Given the description of an element on the screen output the (x, y) to click on. 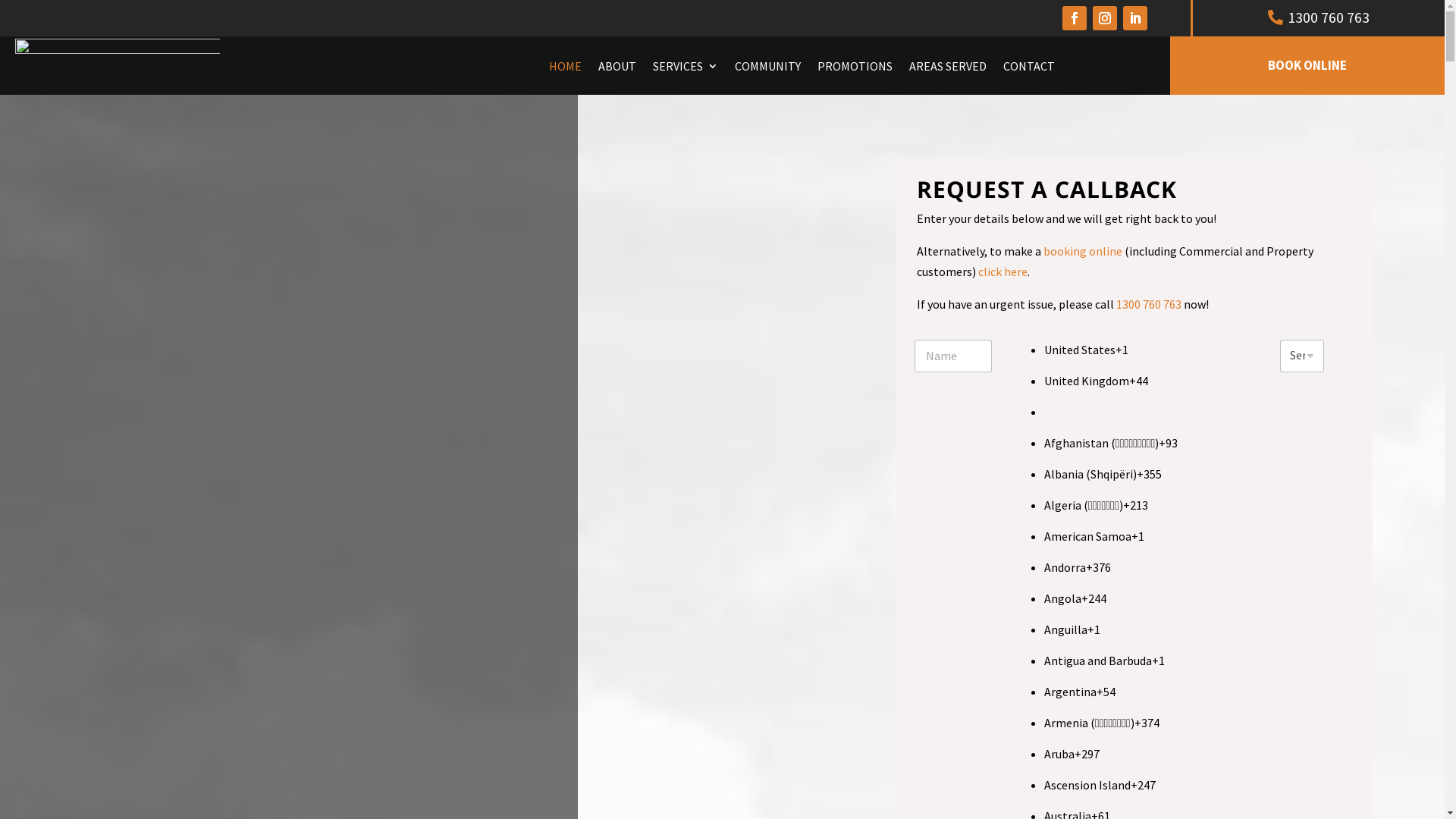
Follow on LinkedIn Element type: hover (1135, 18)
click here Element type: text (1002, 271)
1300 760 763 Element type: text (1148, 303)
booking online Element type: text (1082, 250)
CONTACT Element type: text (1028, 65)
AREAS SERVED Element type: text (947, 65)
PROMOTIONS Element type: text (854, 65)
Follow on Instagram Element type: hover (1104, 18)
HOME Element type: text (565, 65)
ABOUT Element type: text (617, 65)
1300 760 763 Element type: text (1318, 17)
Follow on Facebook Element type: hover (1074, 18)
COMMUNITY Element type: text (767, 65)
SERVICES Element type: text (685, 65)
